Given the description of an element on the screen output the (x, y) to click on. 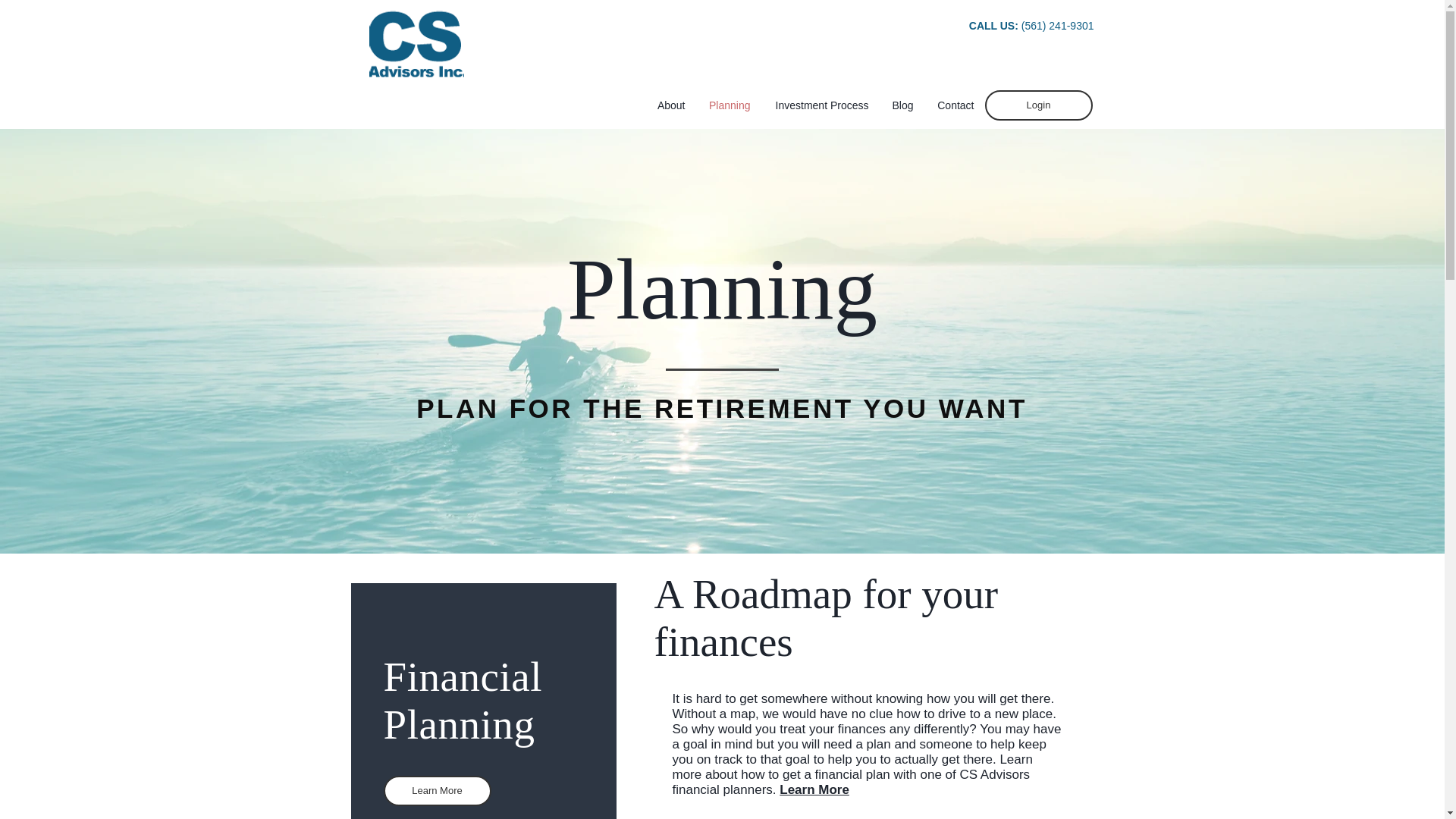
Planning (728, 105)
Investment Process (820, 105)
Blog (901, 105)
About (670, 105)
Contact (954, 105)
Learn More (813, 789)
Login (1038, 105)
Home (415, 43)
Learn More (438, 790)
